Given the description of an element on the screen output the (x, y) to click on. 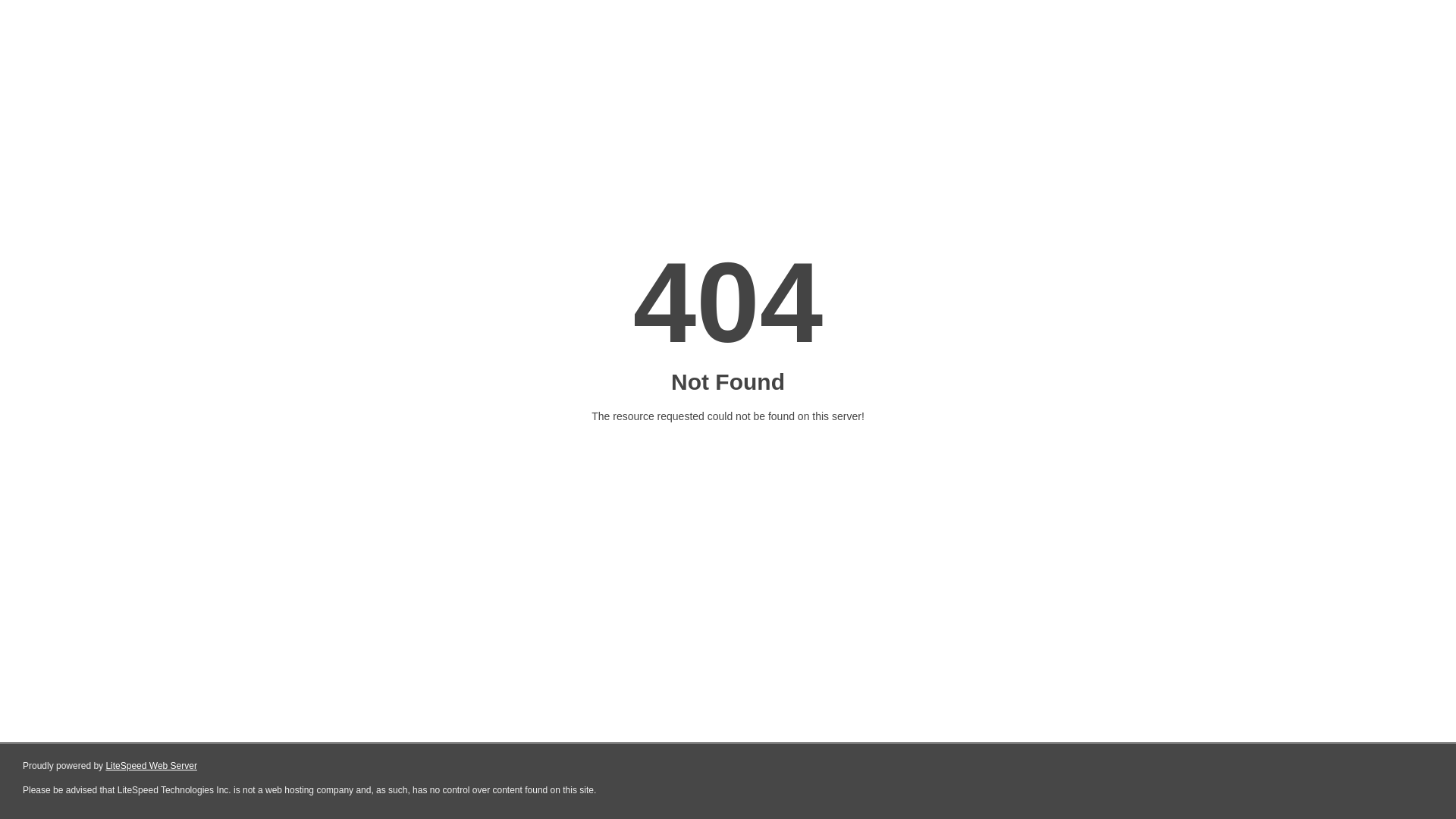
LiteSpeed Web Server Element type: text (151, 765)
